Given the description of an element on the screen output the (x, y) to click on. 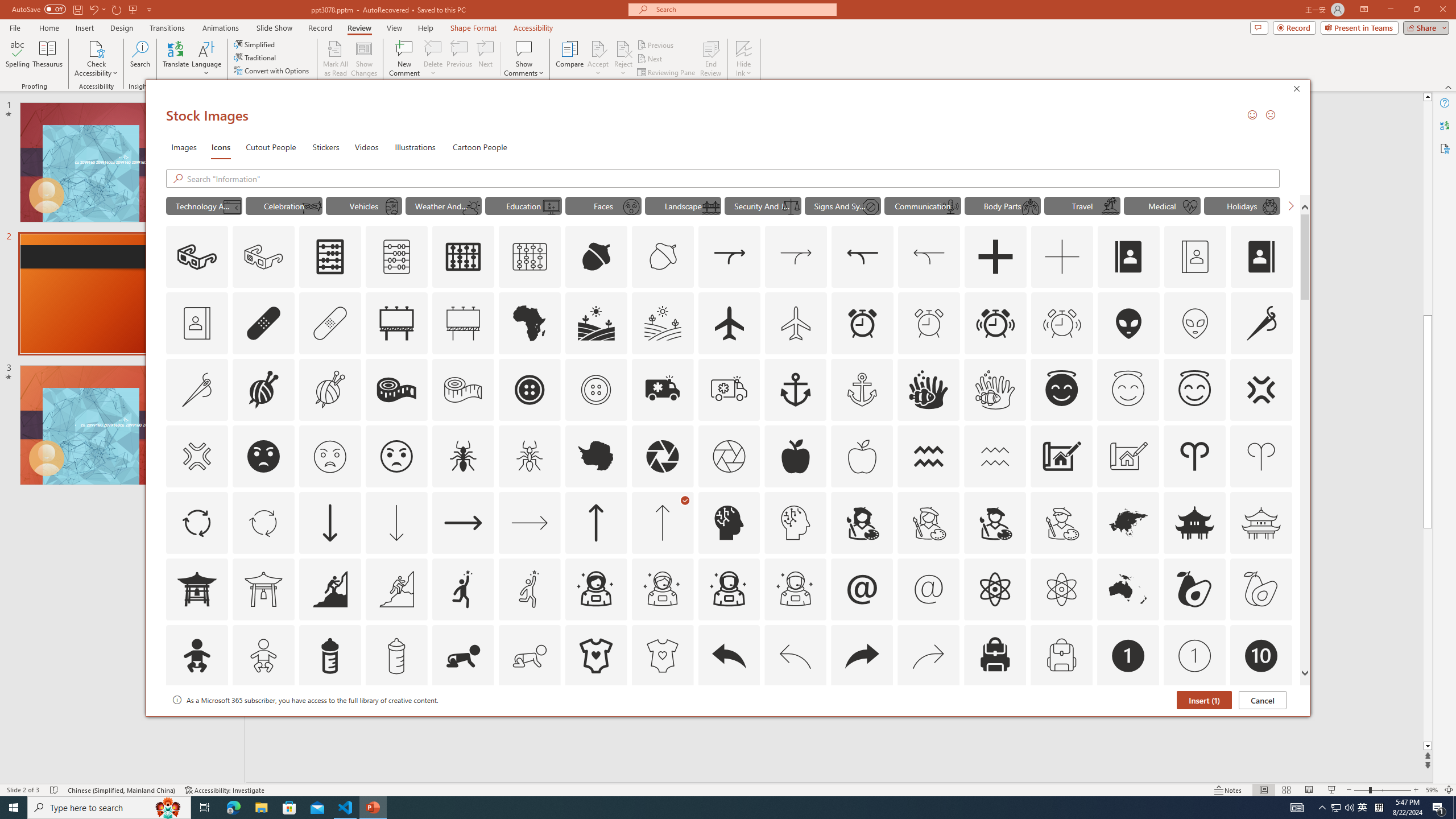
"Holidays" Icons. (1241, 205)
Insert (1) (1203, 700)
AutomationID: Icons_ArrowCircle (196, 522)
AutomationID: Icons_3dGlasses (197, 256)
AutomationID: Icons_ArtistFemale (861, 522)
AutomationID: Icons_AlarmClock (863, 323)
"Vehicles" Icons. (363, 205)
AutomationID: Icons_AlarmRinging_M (1062, 323)
AutomationID: Icons (1260, 721)
AutomationID: Icons_AlienFace_M (1194, 323)
